Given the description of an element on the screen output the (x, y) to click on. 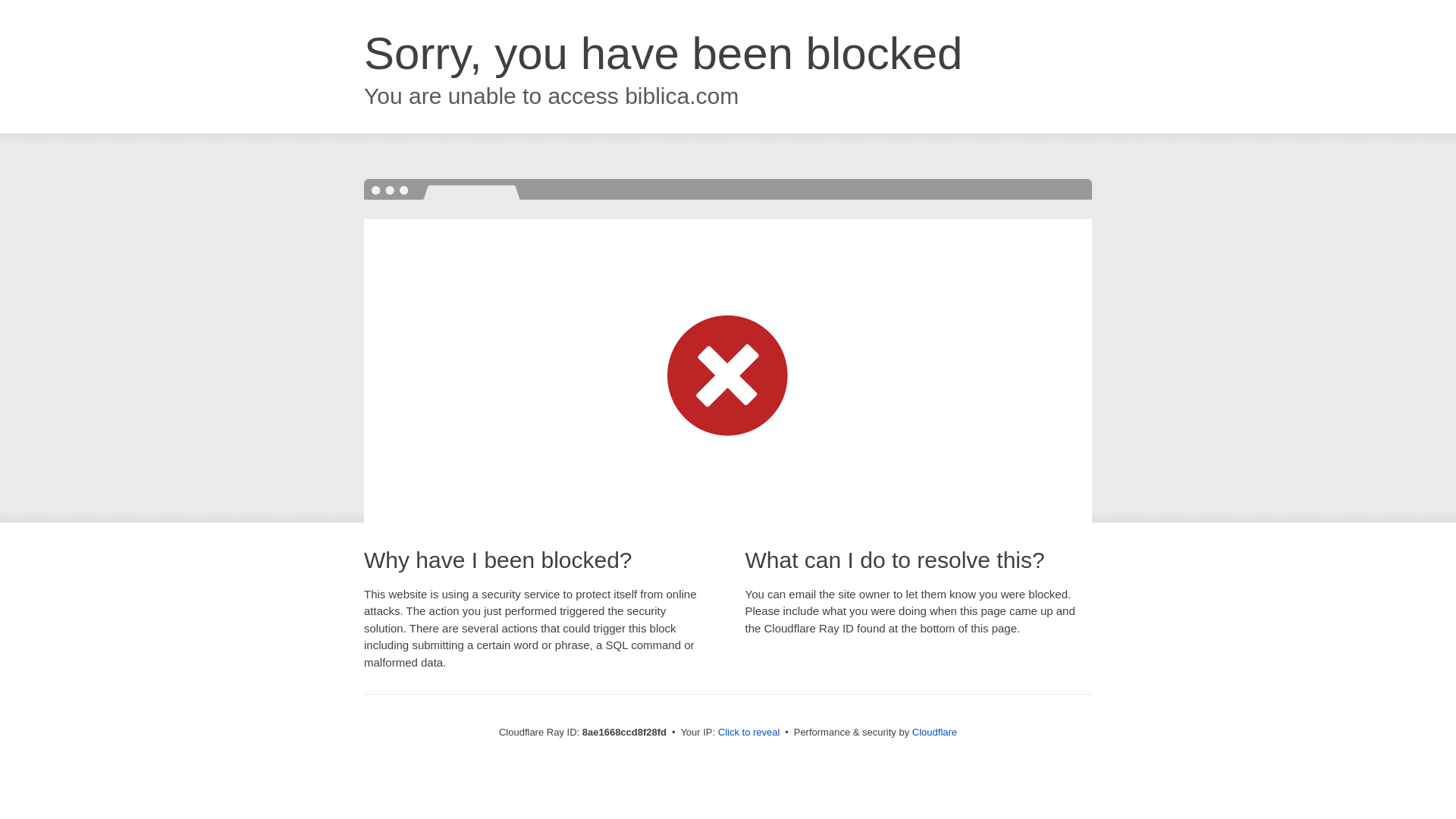
Click to reveal (748, 732)
Cloudflare (934, 731)
